Given the description of an element on the screen output the (x, y) to click on. 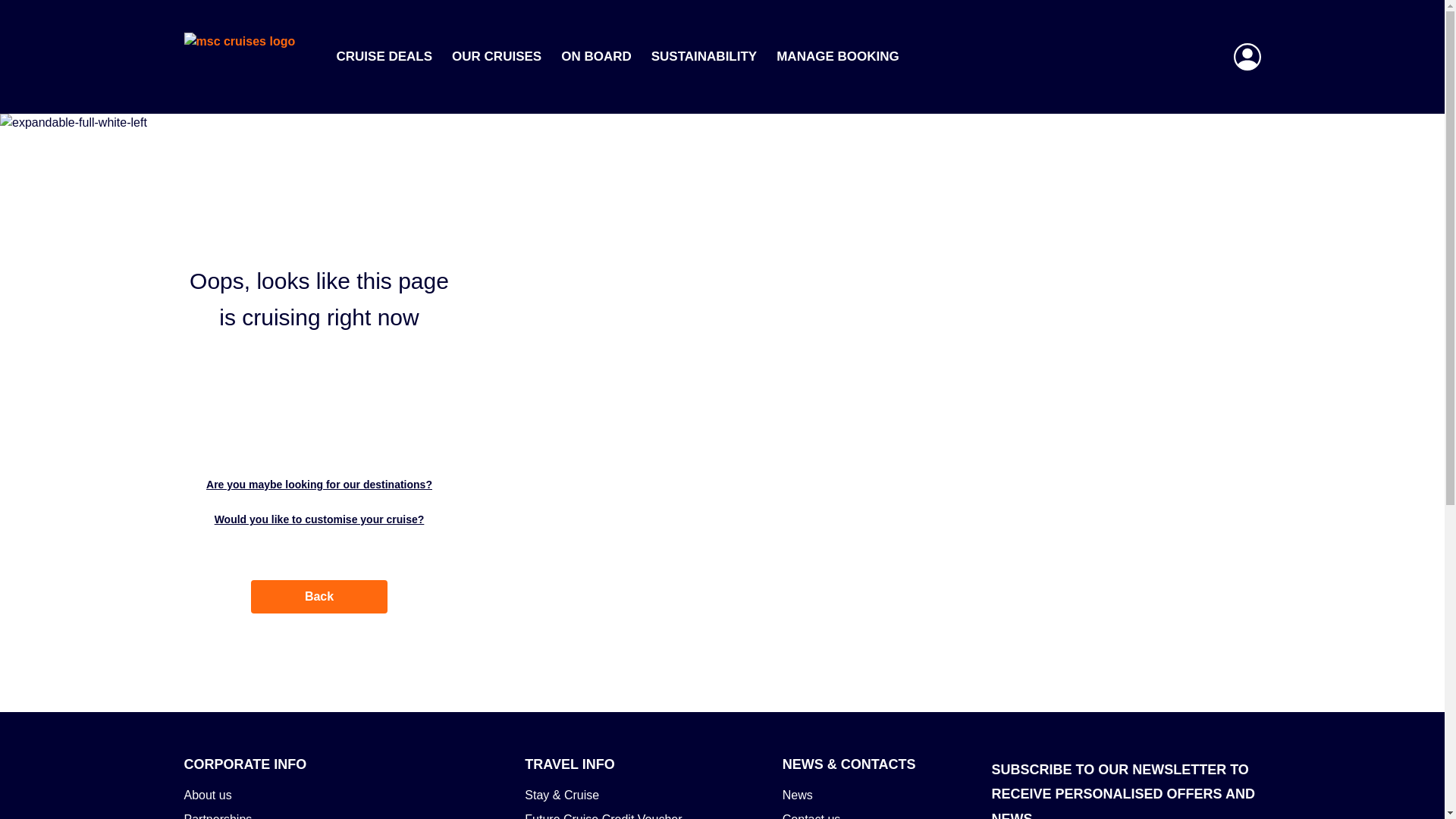
Are you maybe looking for our destinations? (318, 484)
msc cruises logo (250, 56)
CRUISE DEALS (384, 56)
Back (318, 596)
SUSTAINABILITY (703, 56)
Search (1071, 155)
Would you like to customise your cruise? (318, 519)
OUR CRUISES (496, 56)
ON BOARD (595, 56)
MANAGE BOOKING (837, 56)
